Given the description of an element on the screen output the (x, y) to click on. 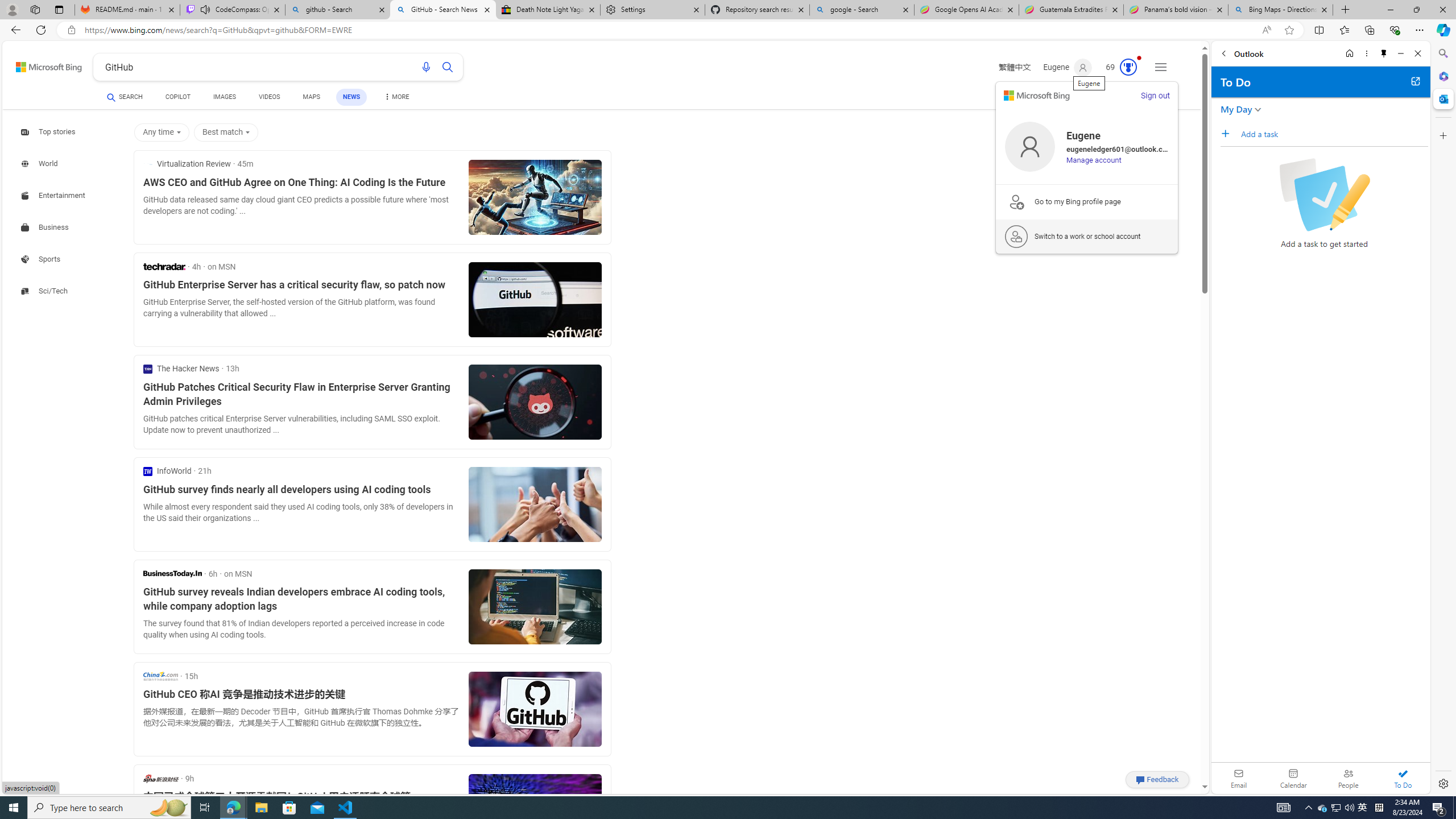
Unpin side pane (1383, 53)
SEARCH (124, 96)
Checkbox with a pencil (1324, 194)
MAPS (311, 98)
Dropdown Menu (395, 96)
NEWS (350, 96)
Search news from The Hacker News (180, 368)
Any time (163, 132)
